Given the description of an element on the screen output the (x, y) to click on. 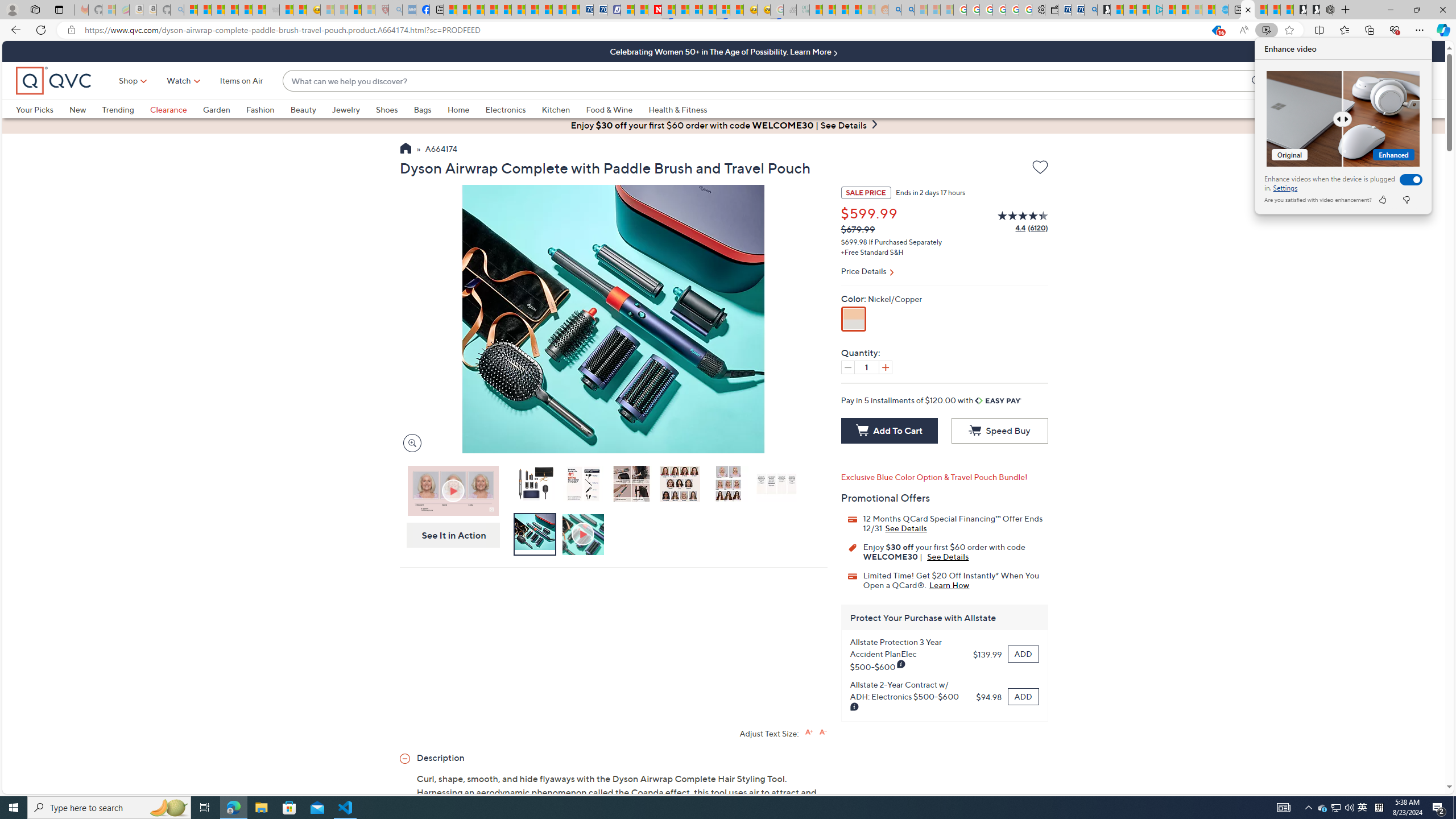
Notification Chevron (1308, 807)
dislike (1405, 199)
AutomationID: 4105 (1283, 807)
Your Picks (42, 109)
QVC home (53, 80)
Add To Cart (888, 430)
Increase quantity by 1 (884, 367)
